Given the description of an element on the screen output the (x, y) to click on. 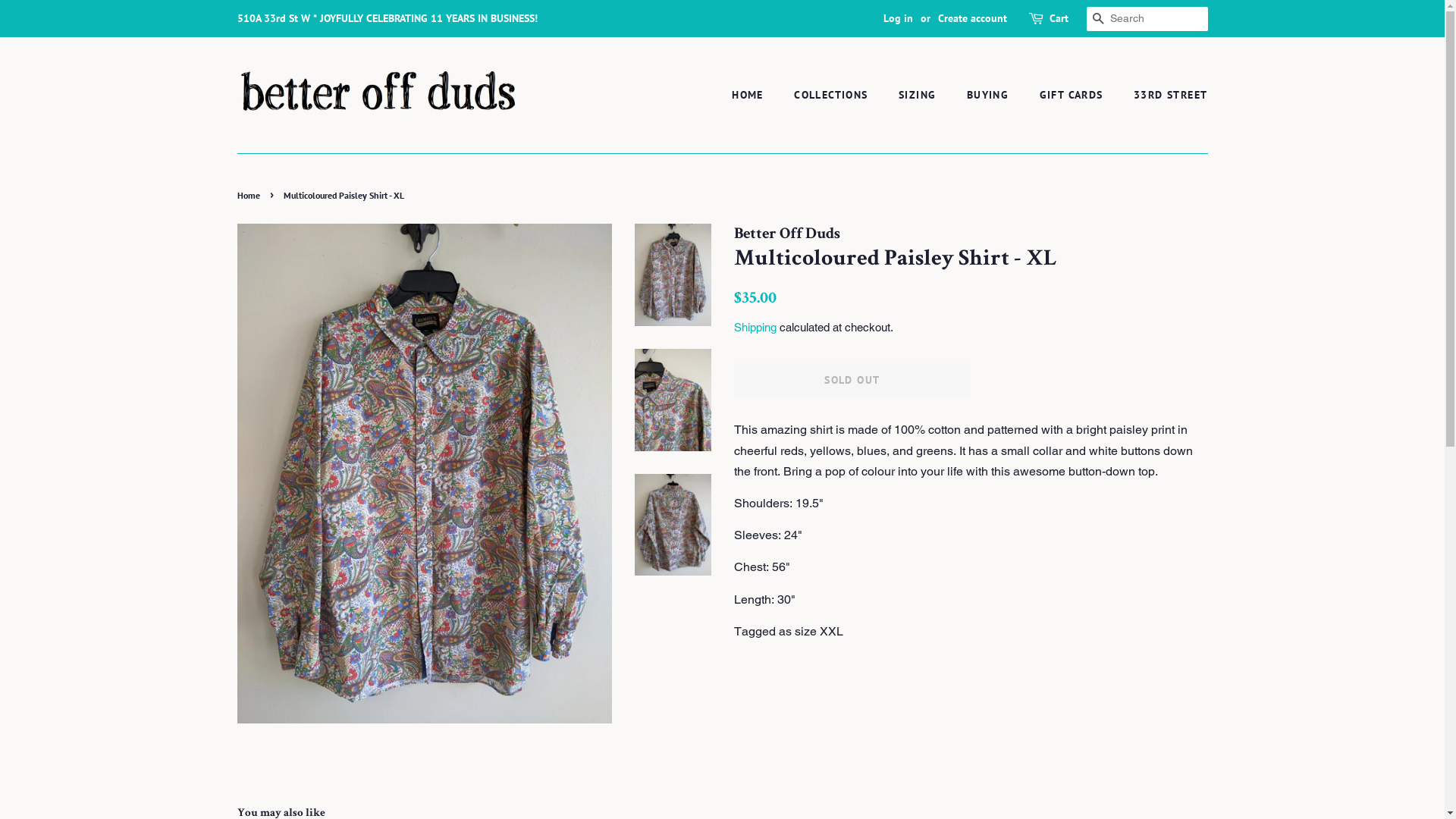
Create account Element type: text (971, 18)
SOLD OUT Element type: text (852, 379)
GIFT CARDS Element type: text (1073, 95)
COLLECTIONS Element type: text (832, 95)
HOME Element type: text (754, 95)
Shipping Element type: text (755, 326)
Cart Element type: text (1058, 18)
SEARCH Element type: text (1097, 18)
Log in Element type: text (897, 18)
33RD STREET Element type: text (1164, 95)
BUYING Element type: text (989, 95)
SIZING Element type: text (918, 95)
Home Element type: text (249, 194)
